Given the description of an element on the screen output the (x, y) to click on. 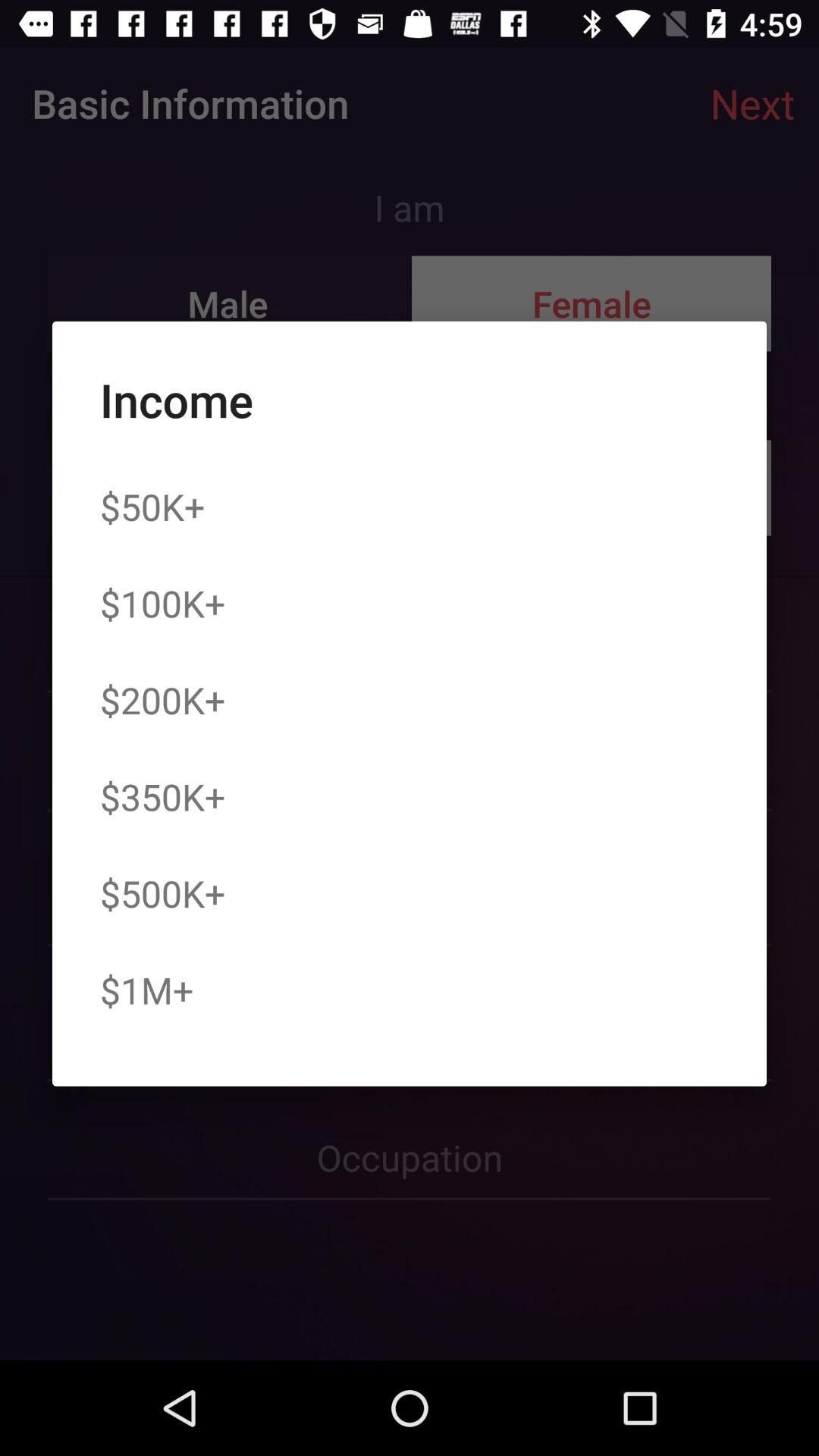
scroll until the $50k+ icon (152, 506)
